Given the description of an element on the screen output the (x, y) to click on. 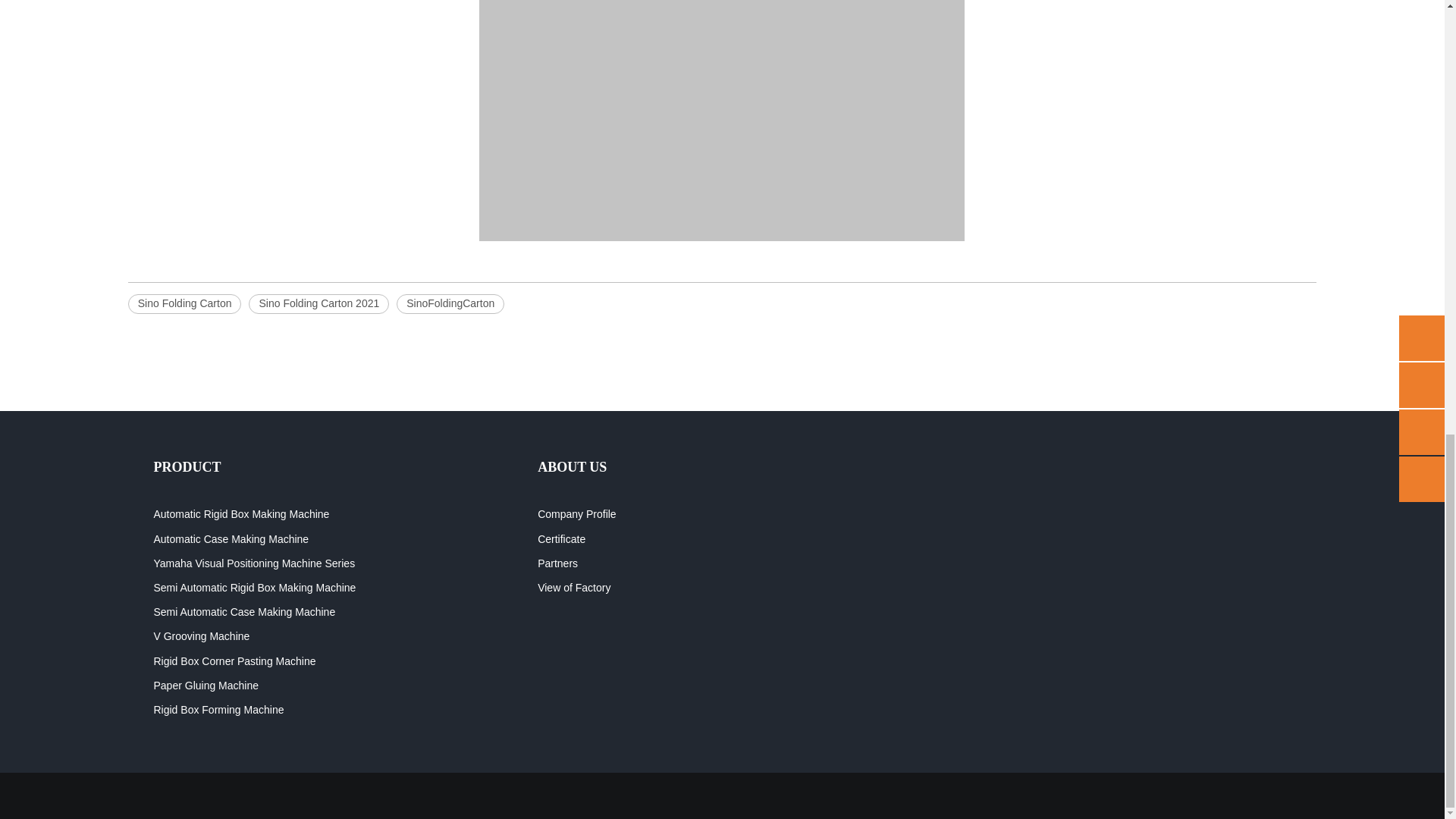
Automatic Rigid Box Making Machine (240, 513)
SinoFoldingCarton (449, 303)
Sino Folding Carton 2021 (318, 303)
Automatic Case Making Machine  (230, 539)
Sino Folding Carton (184, 303)
